Given the description of an element on the screen output the (x, y) to click on. 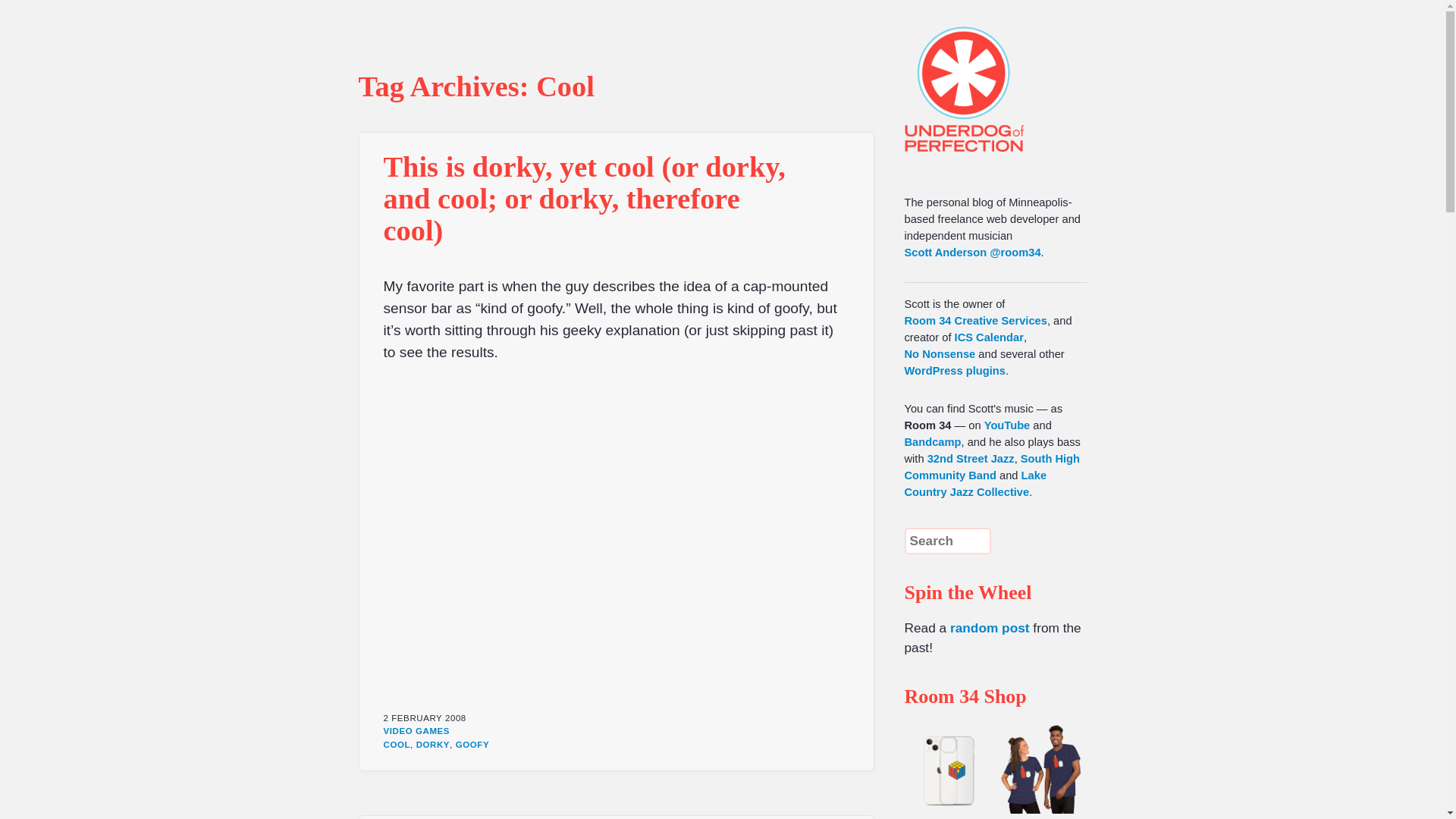
GOOFY (472, 744)
UNDERDOG of PERFECTION (991, 75)
DORKY (432, 744)
COOL (397, 744)
UNDERDOG of PERFECTION (991, 75)
VIDEO GAMES (416, 730)
